Given the description of an element on the screen output the (x, y) to click on. 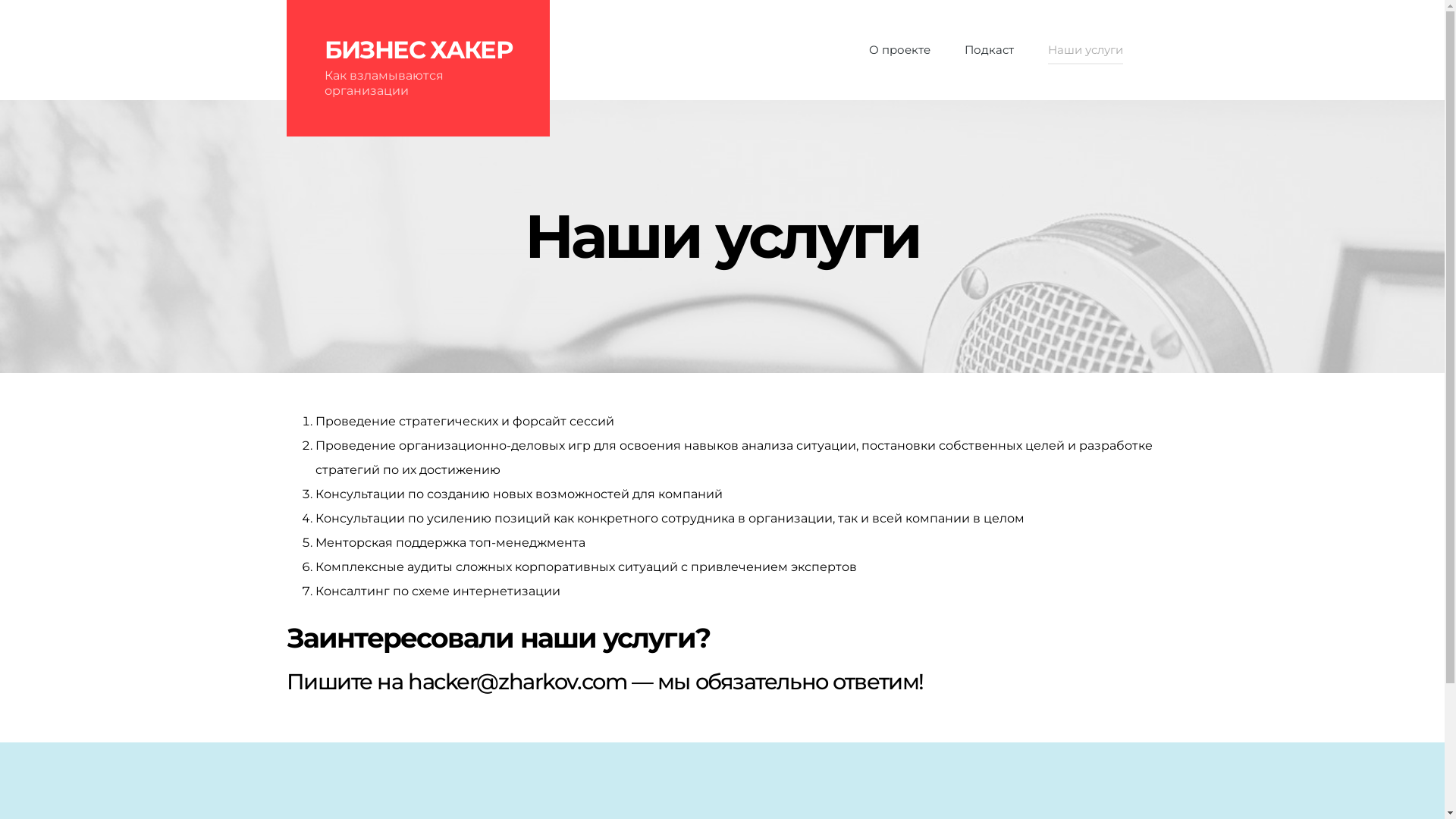
hacker@zharkov.com Element type: text (516, 681)
